Given the description of an element on the screen output the (x, y) to click on. 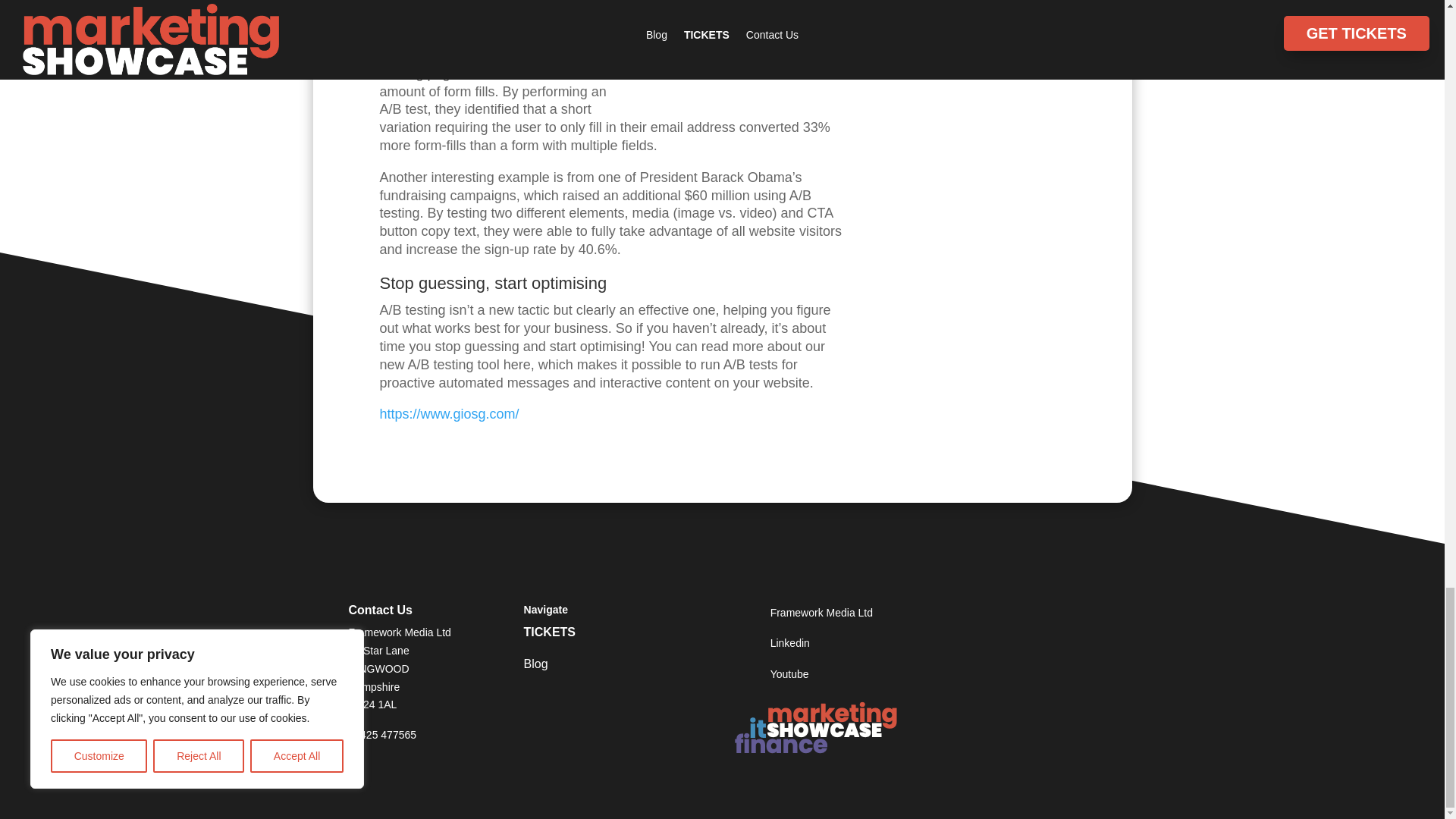
Blog (569, 667)
Combined Logo Low Res (818, 726)
TICKETS (569, 635)
